Given the description of an element on the screen output the (x, y) to click on. 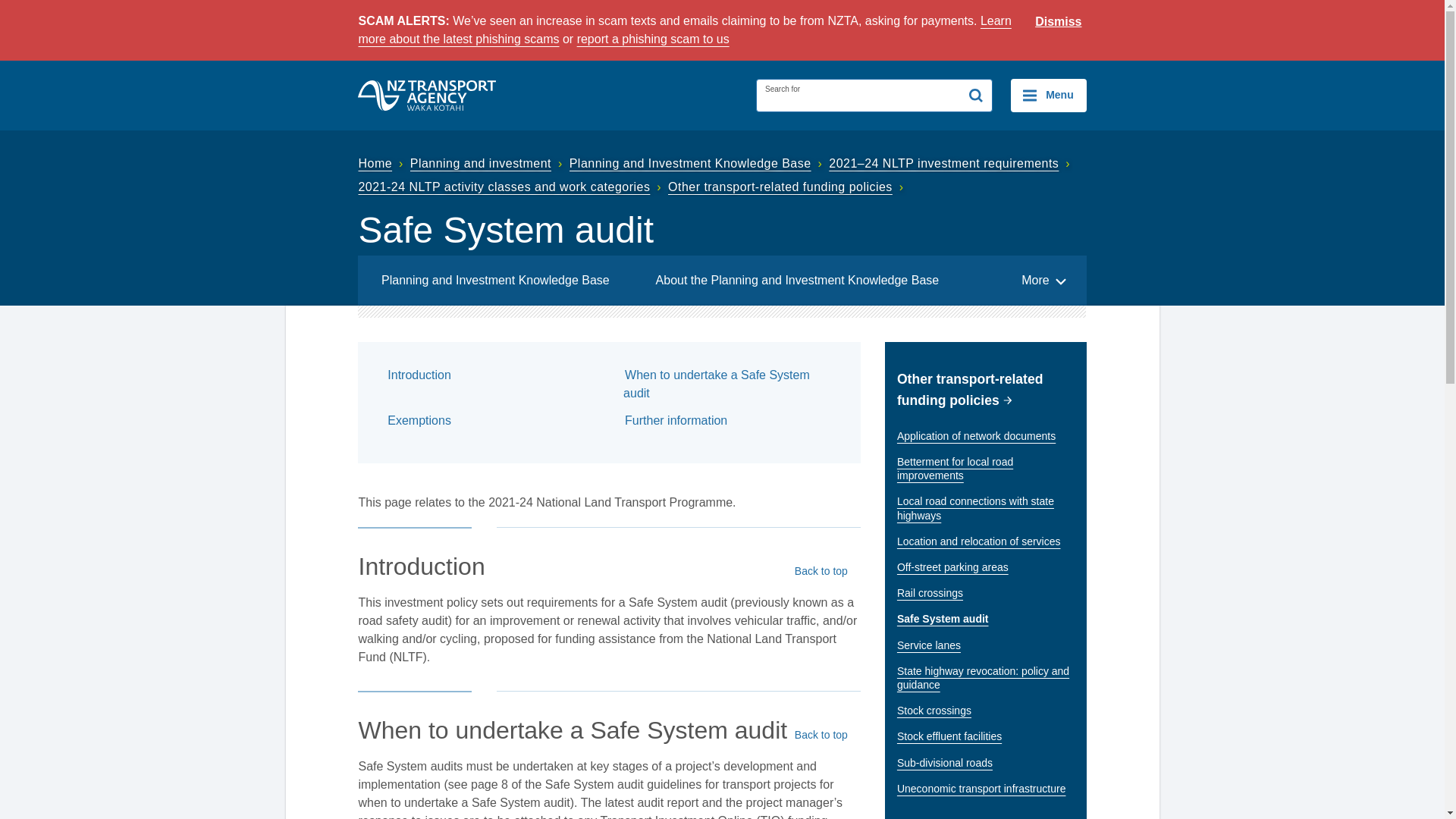
Location and relocation of services (985, 541)
Planning and investment (488, 163)
NZ Transport Agency Waka Kotahi (427, 95)
Safe System audit (985, 618)
Stock crossings (985, 710)
Betterment for local road improvements (985, 468)
Sub-divisional roads (985, 762)
Menu (1048, 95)
Stock effluent facilities (985, 736)
Dismiss (1058, 21)
